Given the description of an element on the screen output the (x, y) to click on. 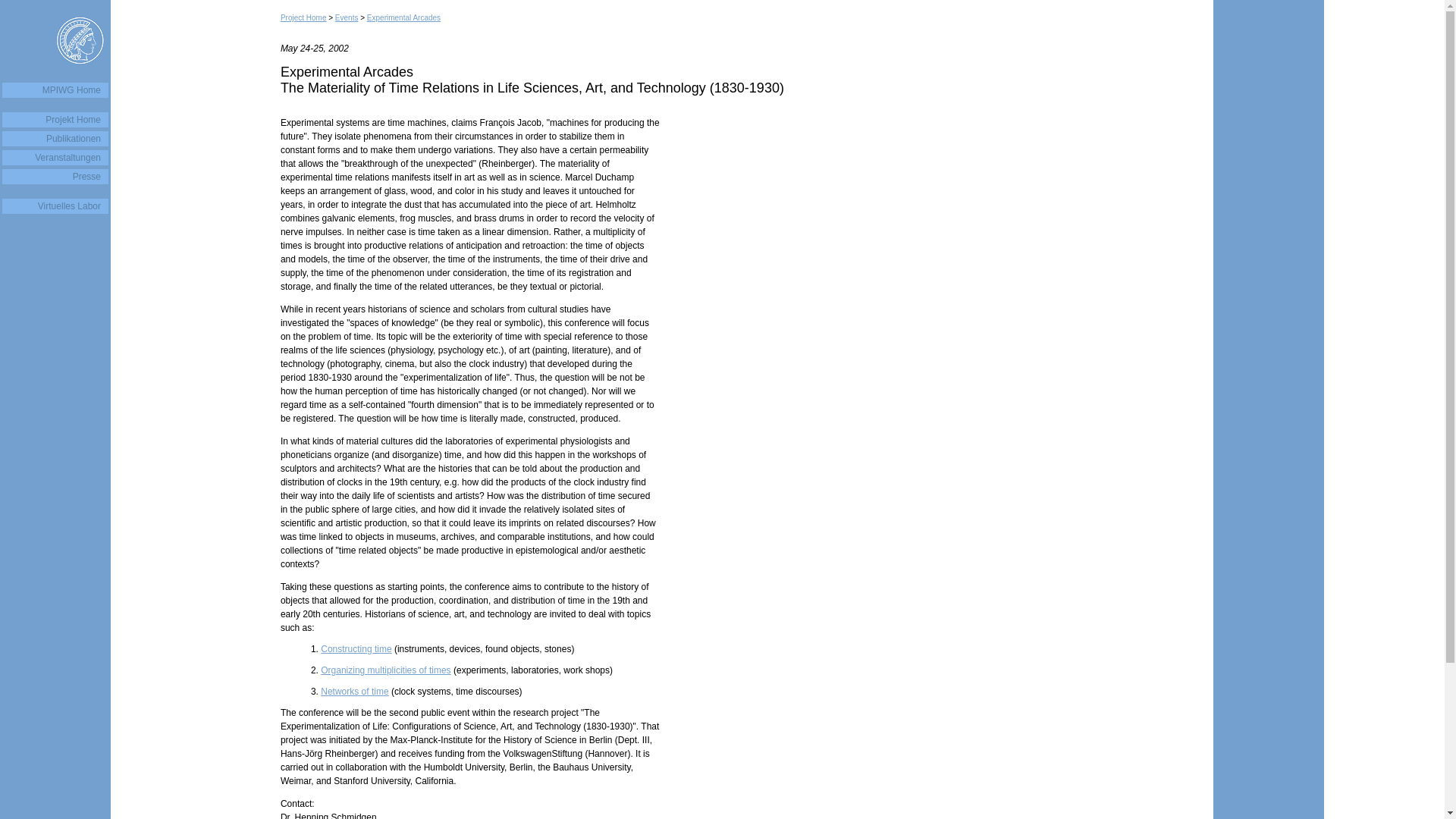
Veranstaltungen (54, 157)
Organizing multiplicities of times (384, 670)
Networks of time (354, 691)
Presse (54, 176)
Project Home (303, 17)
Experimental Arcades (403, 17)
Events (346, 17)
Constructing time (355, 648)
Virtuelles Labor (54, 206)
Projekt Home (54, 119)
